Given the description of an element on the screen output the (x, y) to click on. 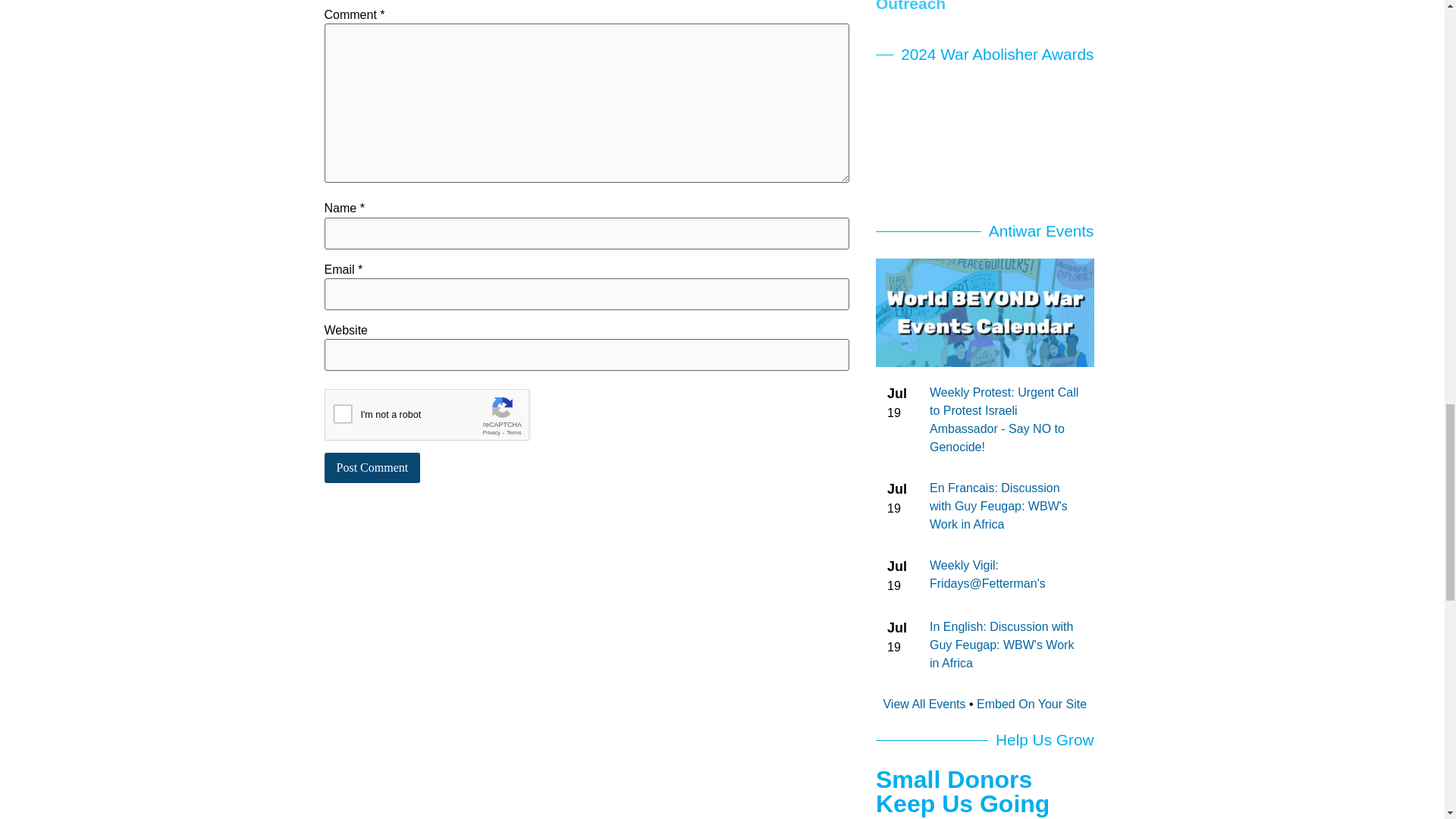
Post Comment (372, 467)
reCAPTCHA (439, 418)
